Given the description of an element on the screen output the (x, y) to click on. 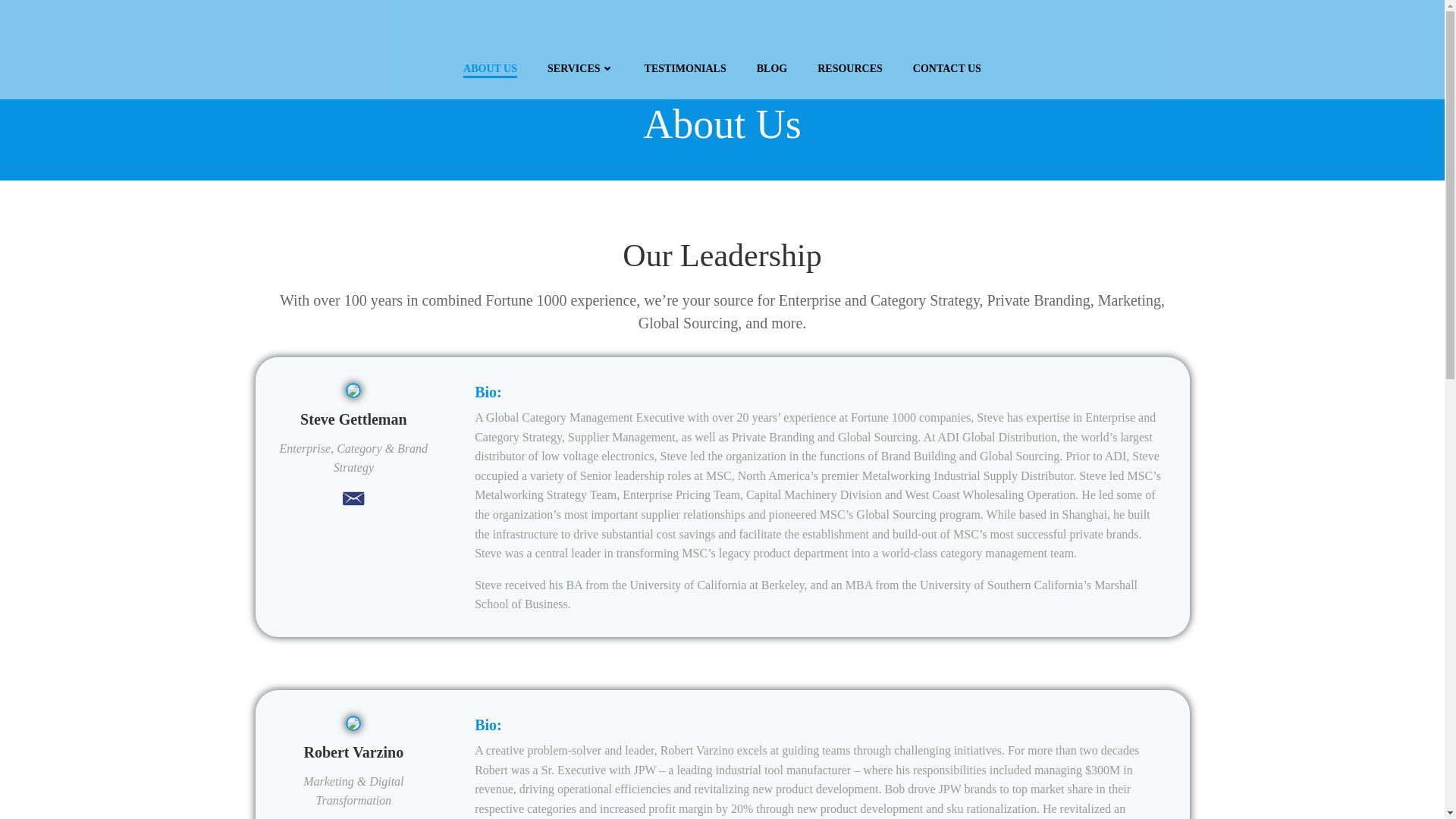
CONTACT US (946, 68)
BLOG (772, 68)
TESTIMONIALS (685, 68)
RESOURCES (849, 68)
ABOUT US (489, 68)
SERVICES (580, 68)
